Given the description of an element on the screen output the (x, y) to click on. 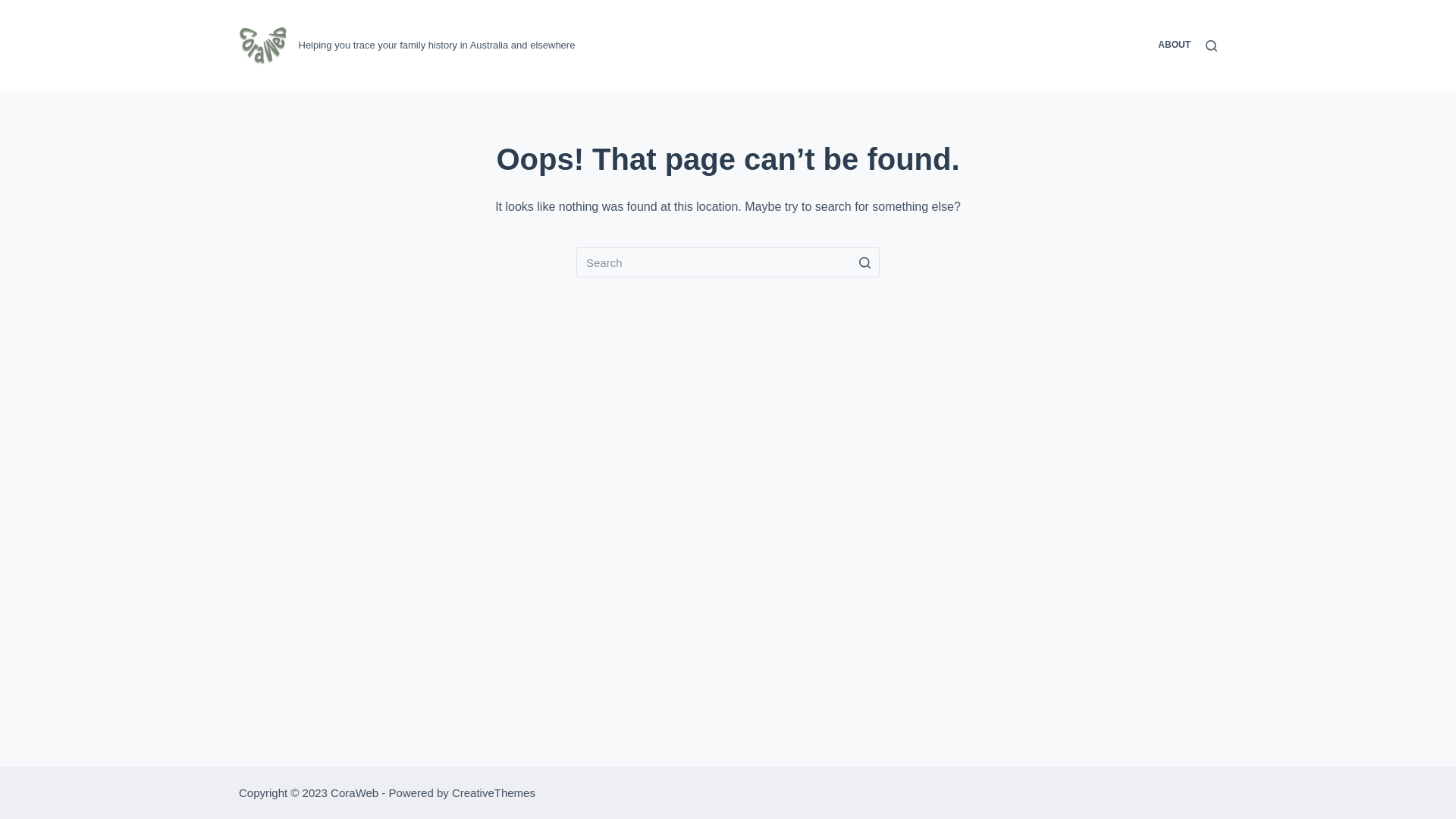
Skip to content Element type: text (15, 7)
Search Input Element type: hover (727, 262)
ABOUT Element type: text (1173, 45)
